Given the description of an element on the screen output the (x, y) to click on. 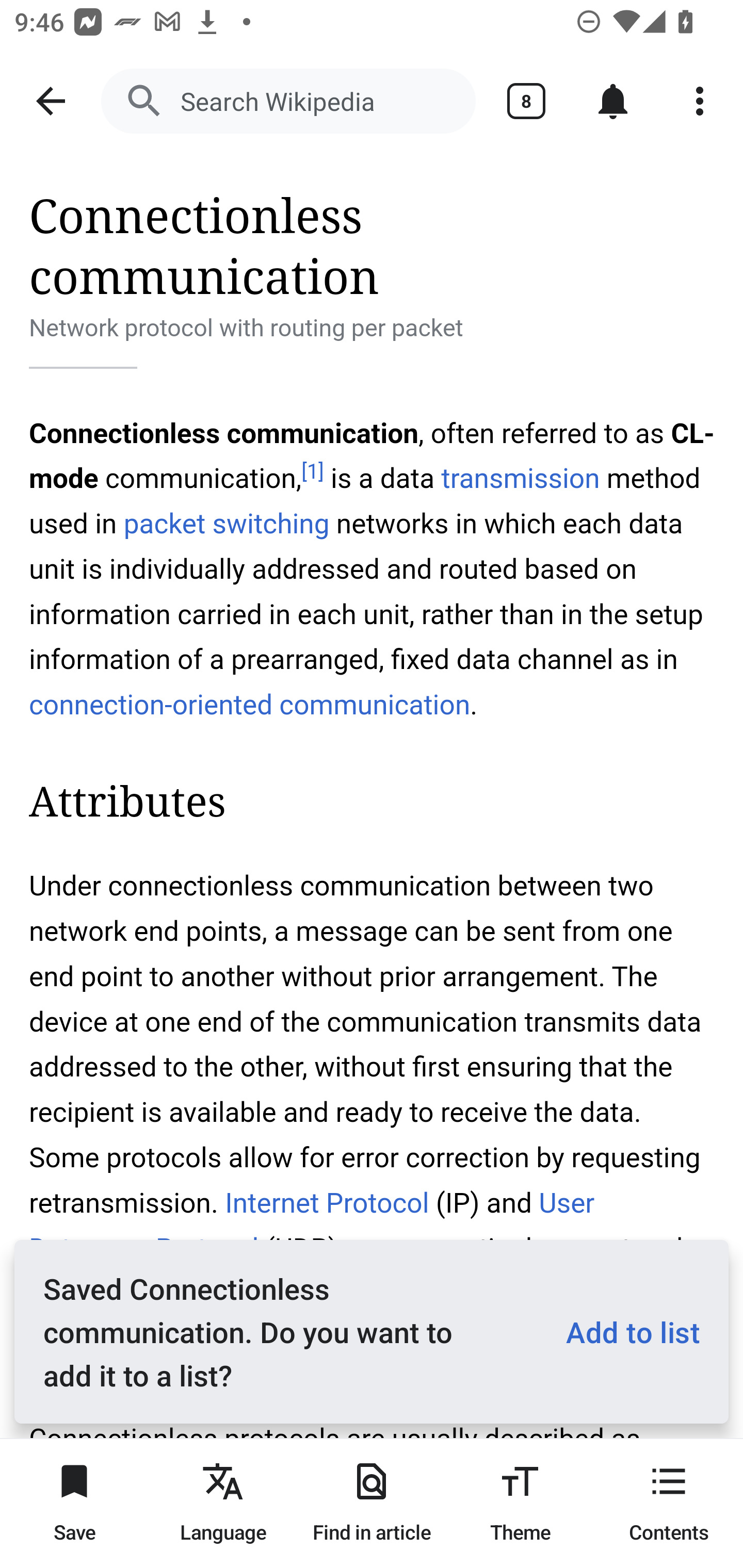
Show tabs 8 (525, 100)
Notifications (612, 100)
Navigate up (50, 101)
More options (699, 101)
Search Wikipedia (288, 100)
[] [ 1 ] (312, 471)
transmission (520, 478)
packet switching (225, 523)
connection-oriented communication (249, 704)
User Datagram Protocol (311, 1225)
Internet Protocol (326, 1202)
Add to list (625, 1331)
Save (74, 1502)
Language (222, 1502)
Find in article (371, 1502)
Theme (519, 1502)
Contents (668, 1502)
